Given the description of an element on the screen output the (x, y) to click on. 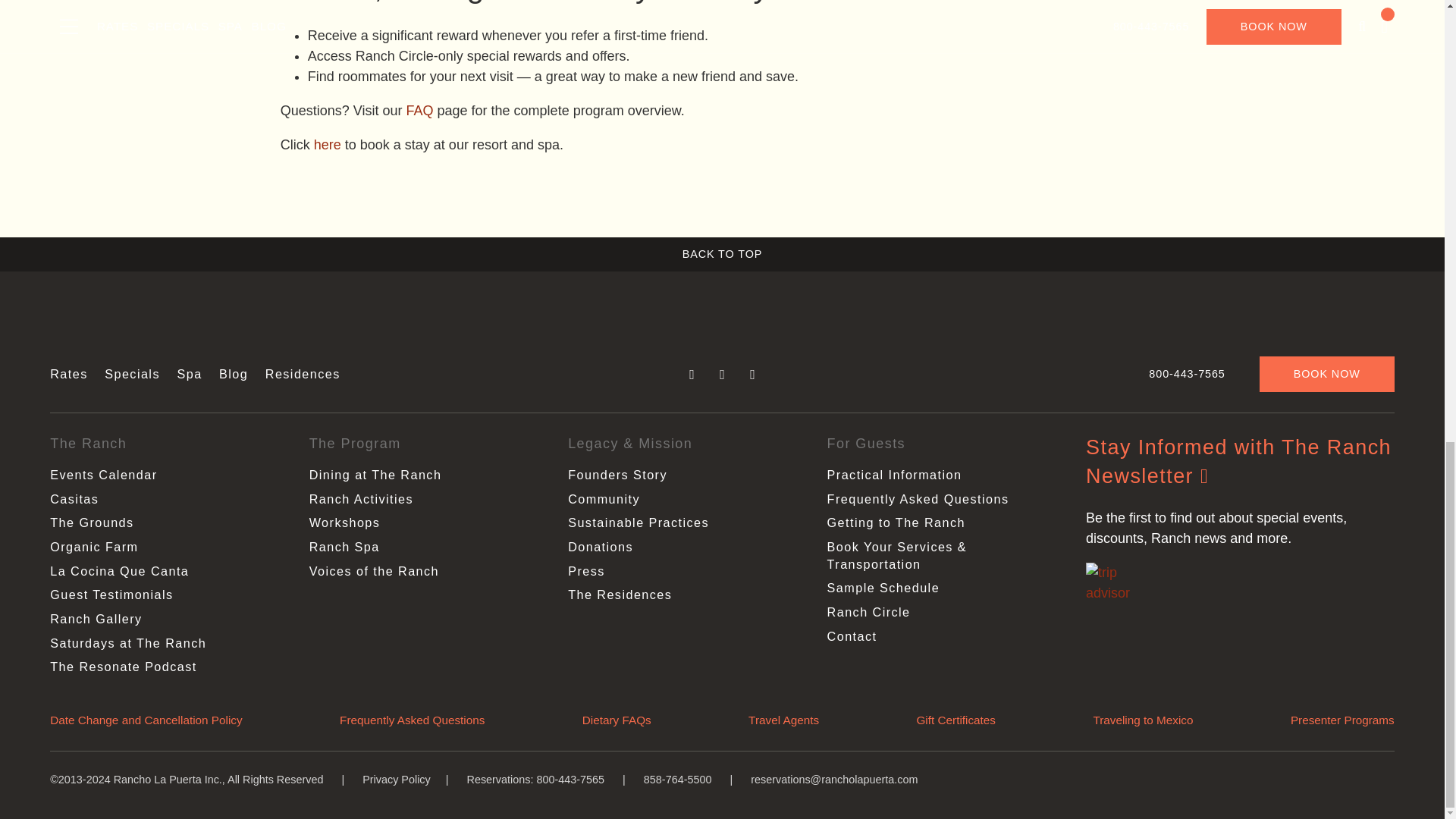
Make A Reservation (327, 144)
